Given the description of an element on the screen output the (x, y) to click on. 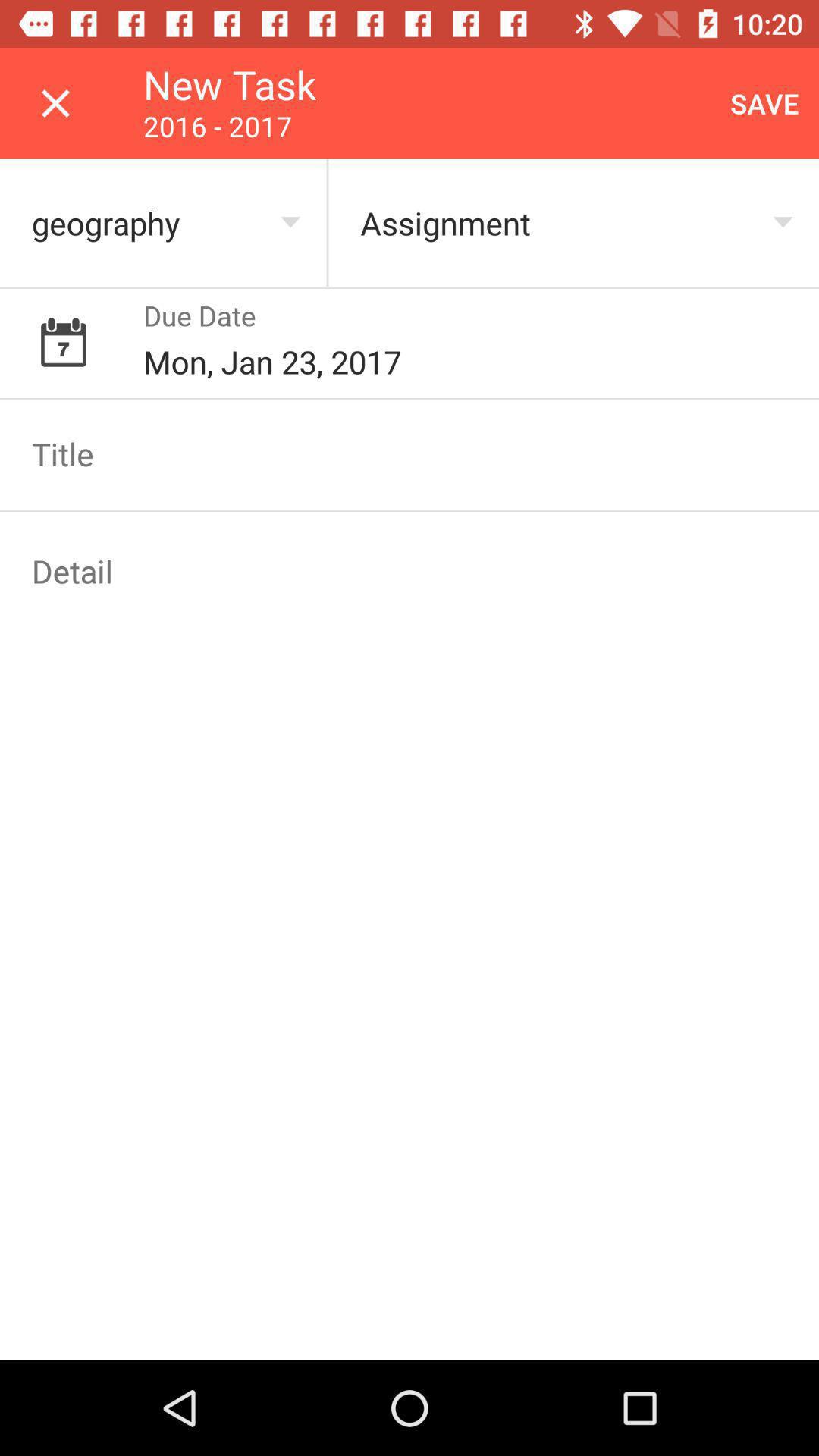
title box (409, 453)
